Given the description of an element on the screen output the (x, y) to click on. 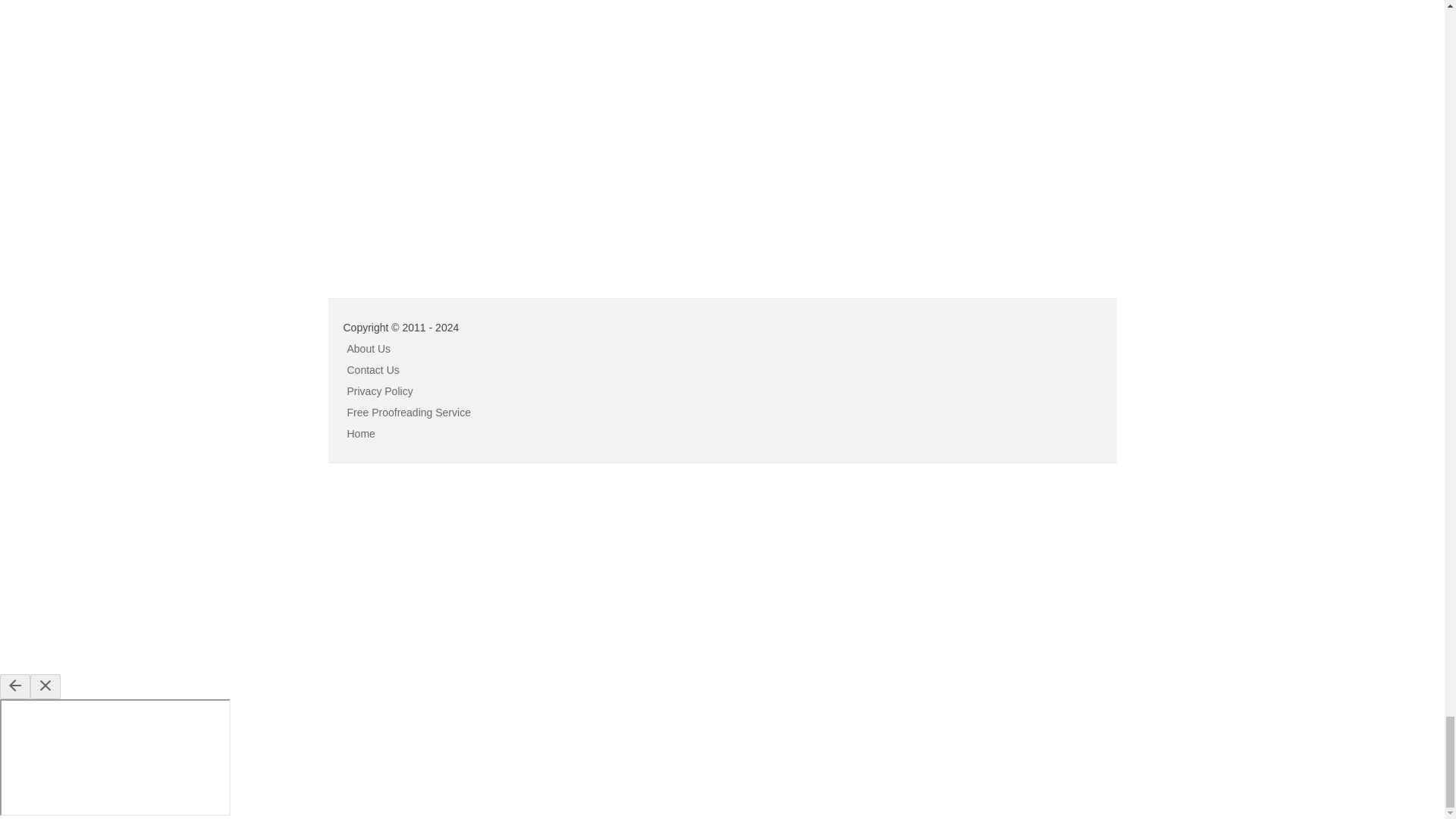
Contact Us (372, 369)
About Us (369, 348)
Free Proofreading Service (408, 412)
Home (361, 433)
Privacy Policy (380, 390)
